Given the description of an element on the screen output the (x, y) to click on. 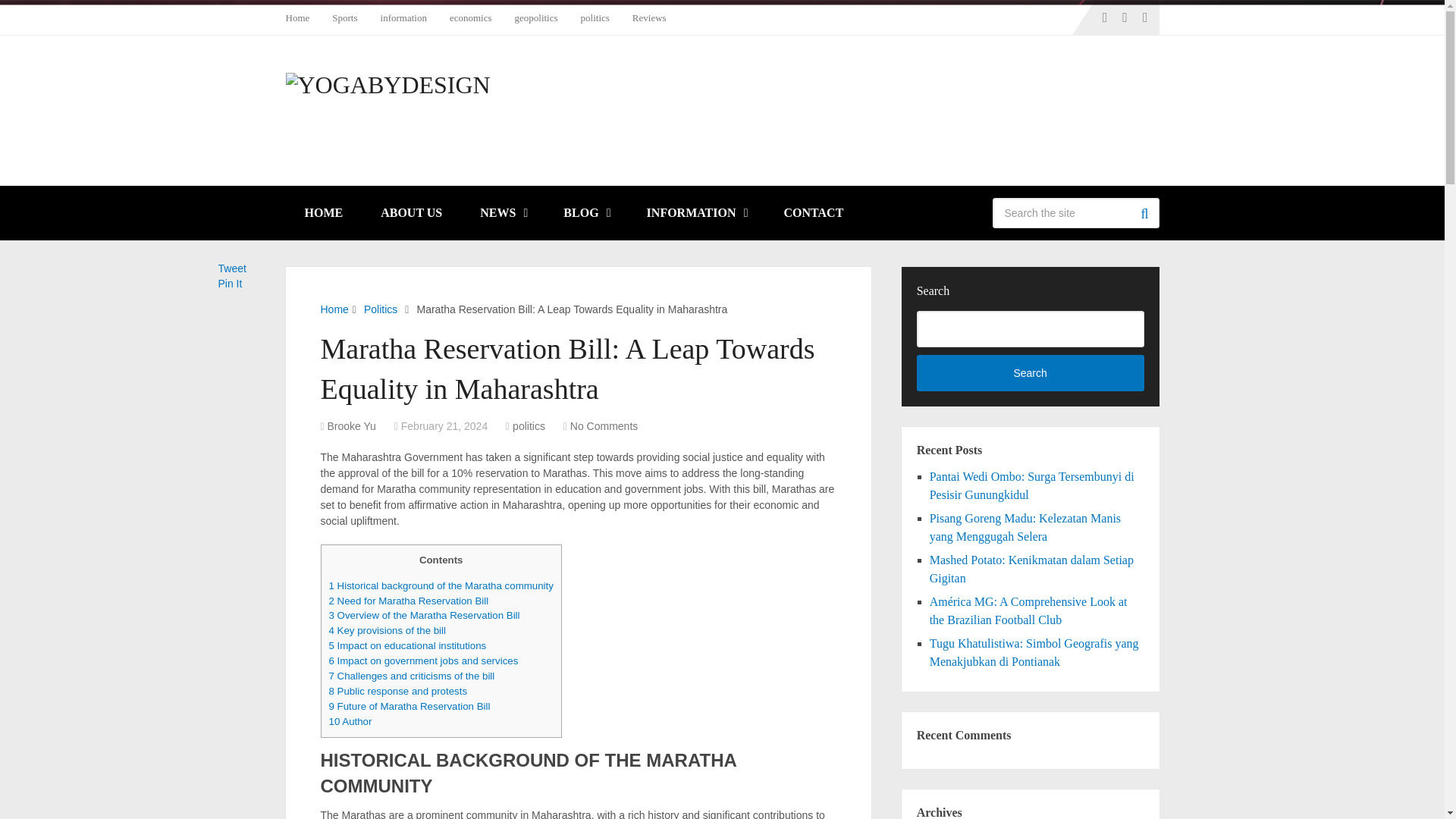
Politics (380, 309)
Home (333, 309)
5 Impact on educational institutions (407, 645)
Reviews (649, 17)
Search (1143, 213)
4 Key provisions of the bill (387, 630)
geopolitics (536, 17)
No Comments (603, 426)
ABOUT US (411, 212)
1 Historical background of the Maratha community (441, 585)
NEWS (502, 212)
3 Overview of the Maratha Reservation Bill (424, 614)
Brooke Yu (351, 426)
HOME (323, 212)
View all posts in politics (528, 426)
